Given the description of an element on the screen output the (x, y) to click on. 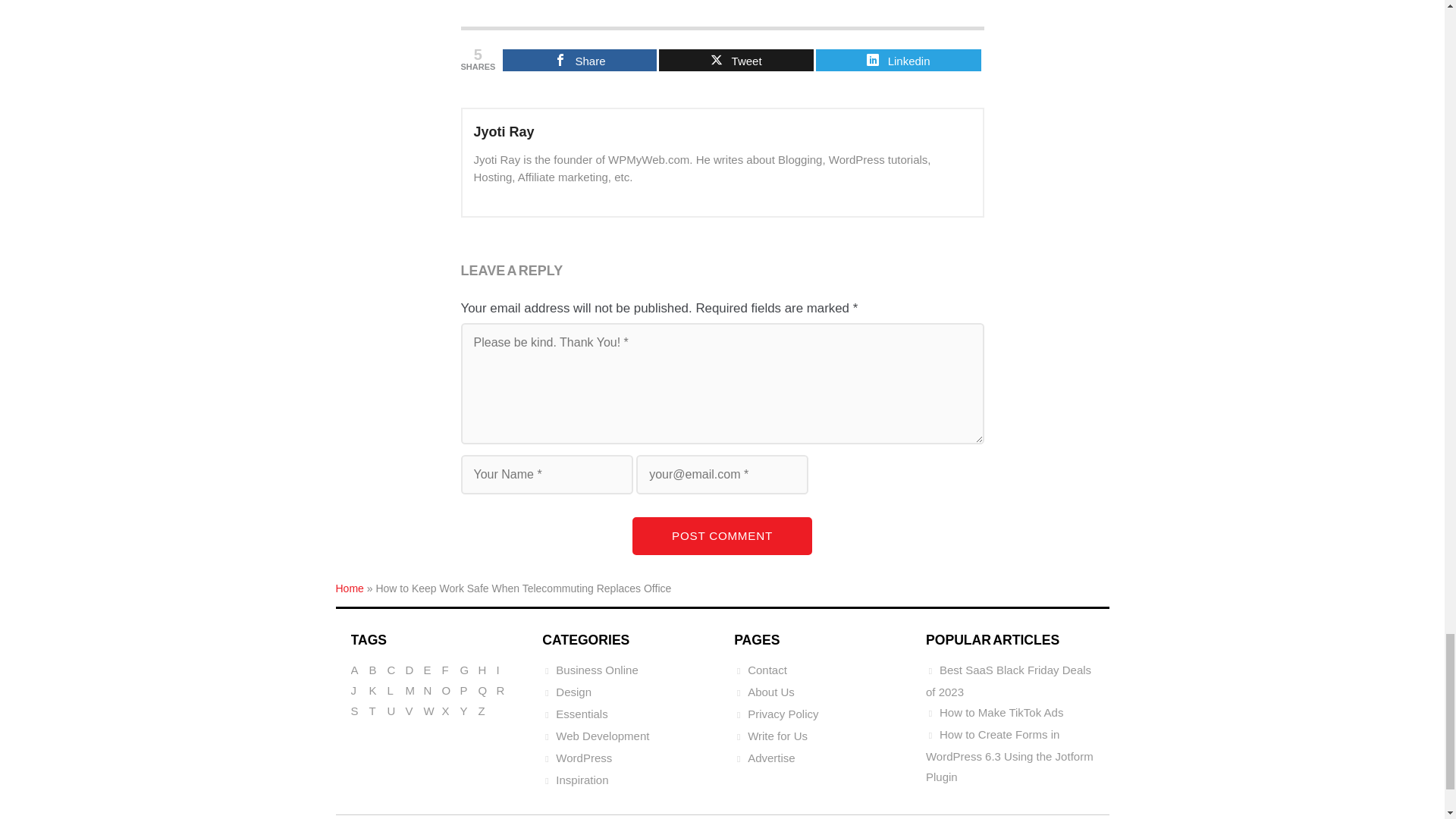
Linkedin (898, 60)
Post Comment (721, 535)
Share (579, 60)
Tweet (735, 60)
Home (348, 588)
Jyoti Ray (503, 131)
Post Comment (721, 535)
